Given the description of an element on the screen output the (x, y) to click on. 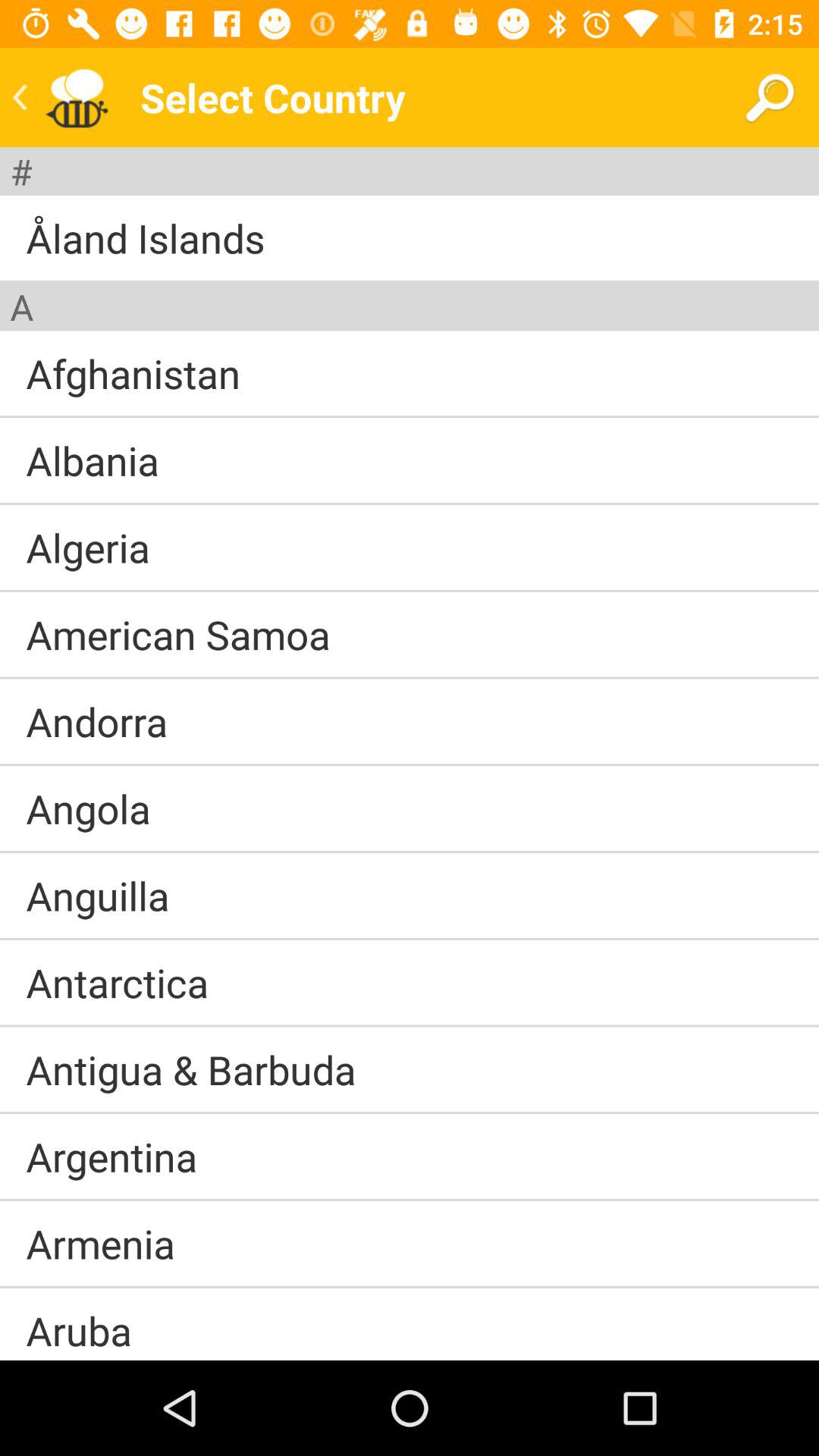
flip to the algeria icon (88, 547)
